Given the description of an element on the screen output the (x, y) to click on. 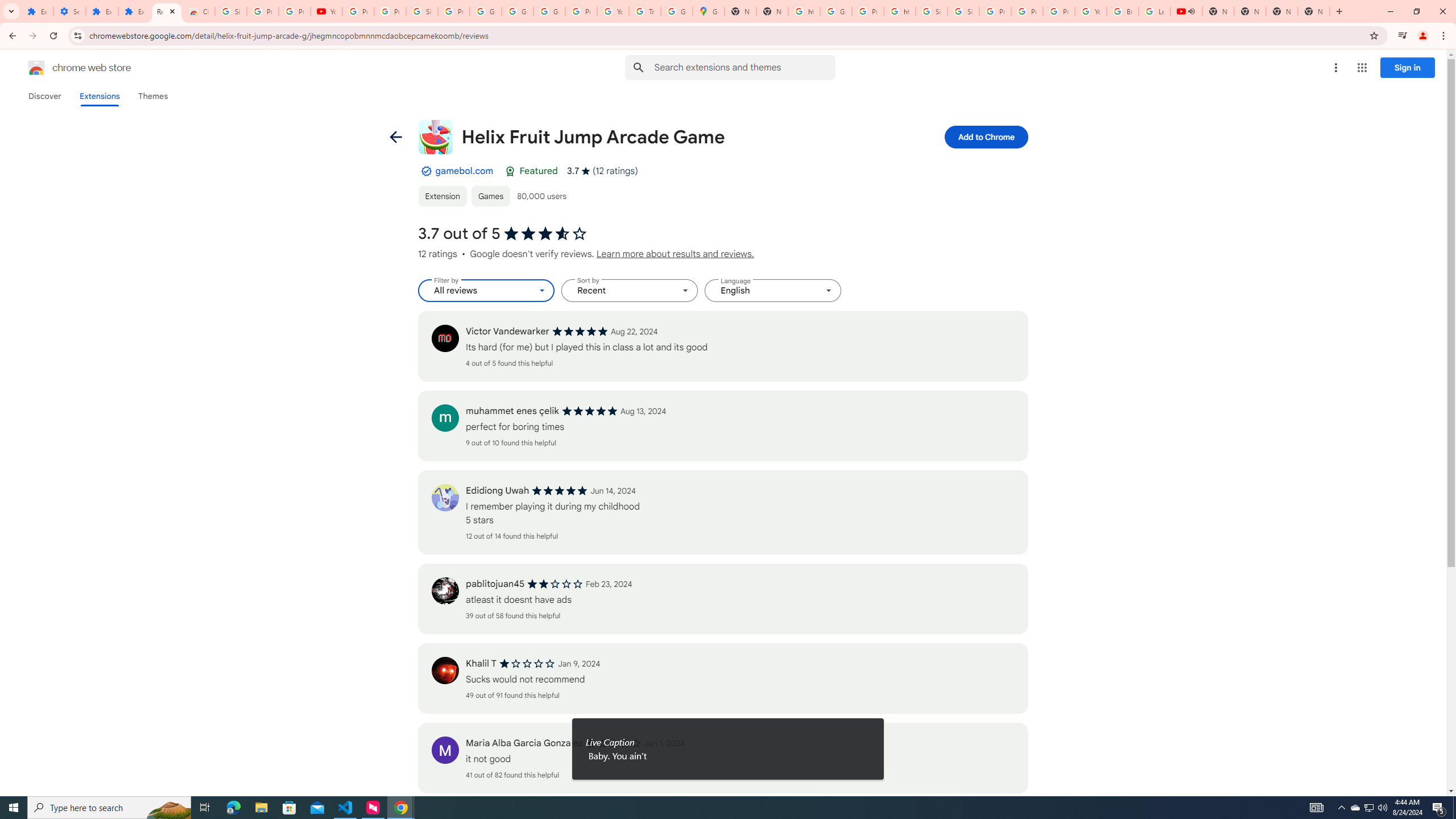
More options menu (1335, 67)
Games (490, 195)
New Tab (1281, 11)
Sign in - Google Accounts (963, 11)
By Established Publisher Badge (425, 170)
2 out of 5 stars (555, 584)
Extensions (99, 95)
YouTube (613, 11)
Average rating 3.7 out of 5 stars. 12 ratings. (601, 170)
